Given the description of an element on the screen output the (x, y) to click on. 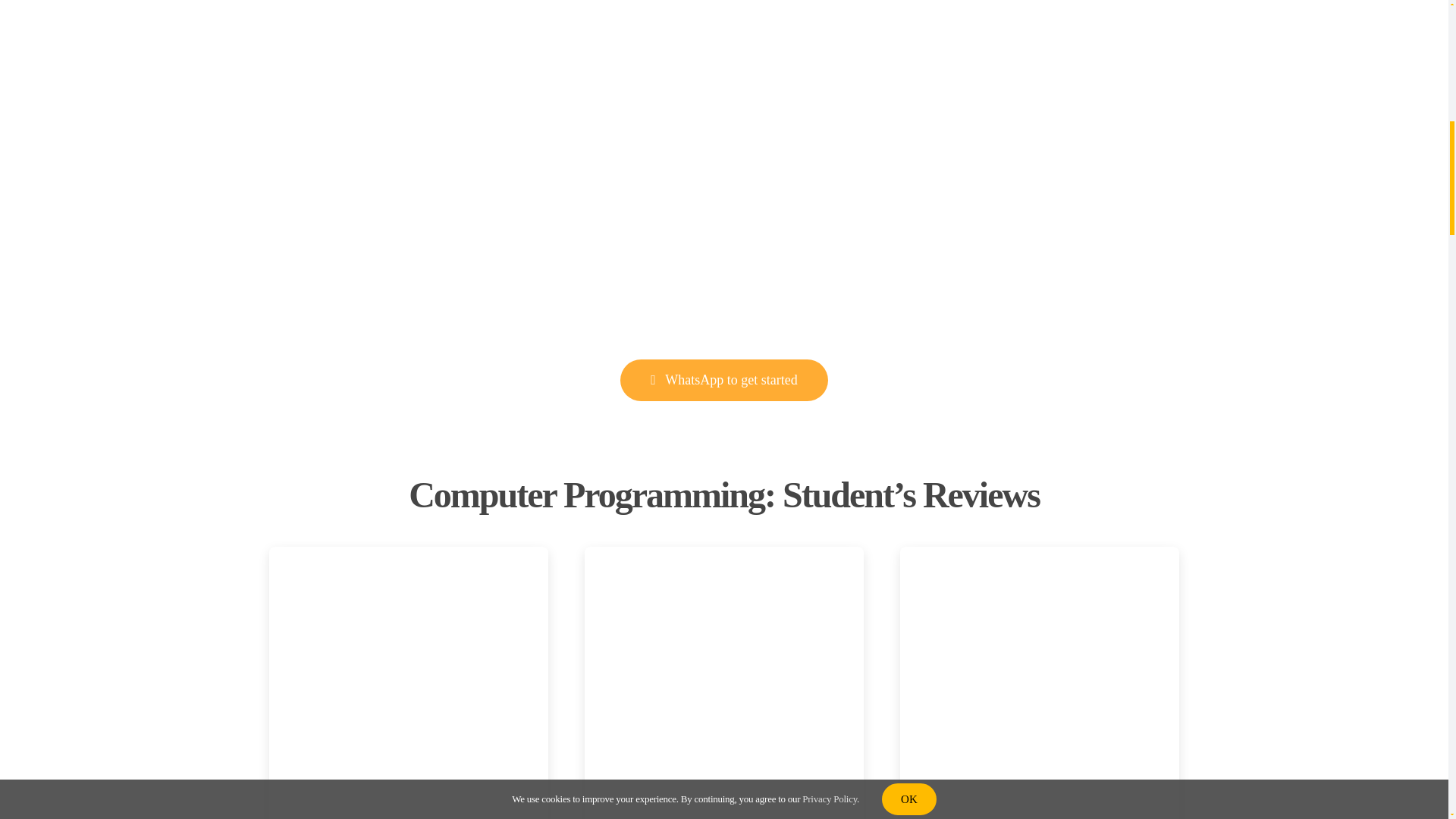
WhatsApp to get started (724, 380)
